Given the description of an element on the screen output the (x, y) to click on. 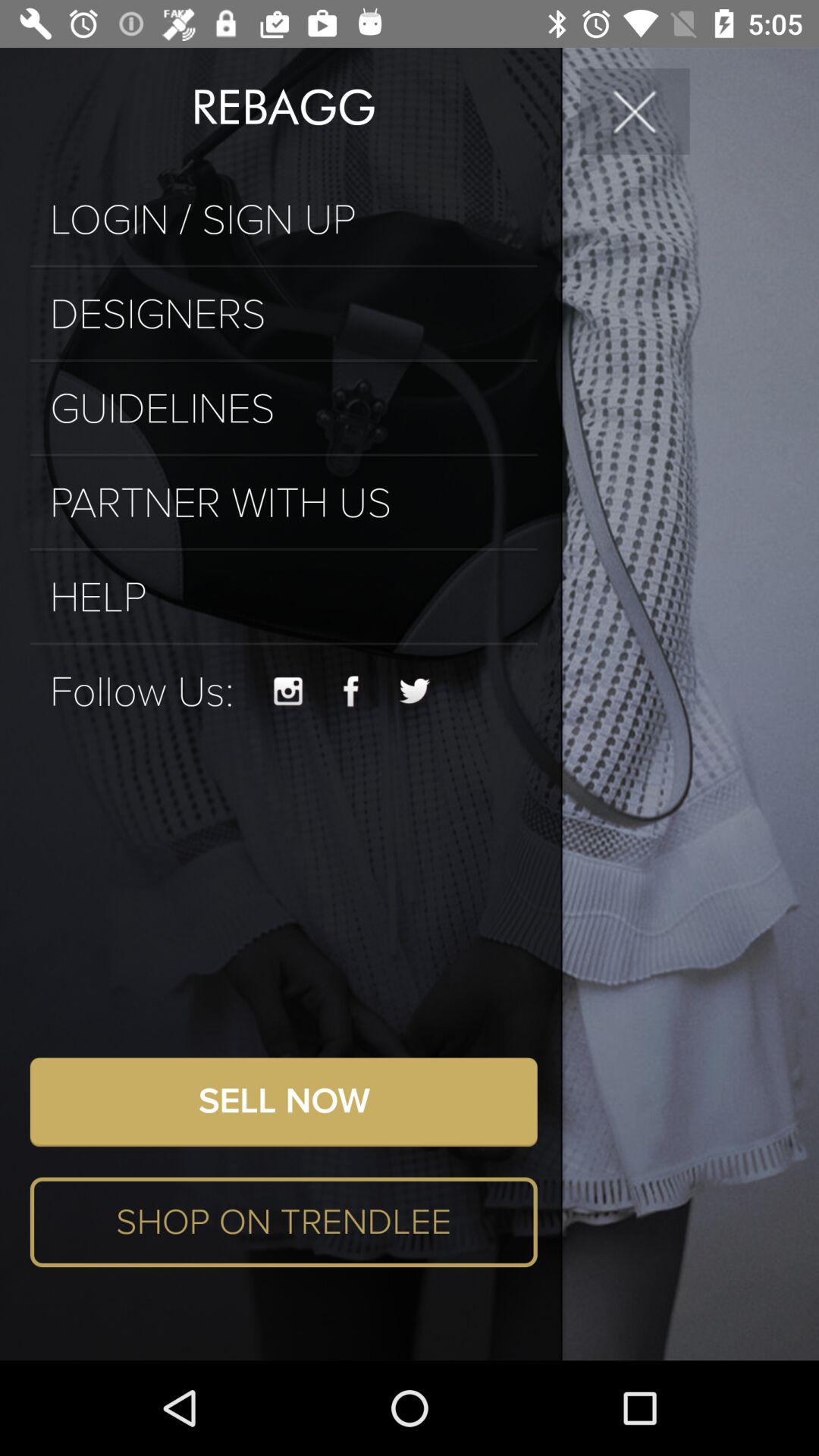
visit brand 's facebook (351, 691)
